Given the description of an element on the screen output the (x, y) to click on. 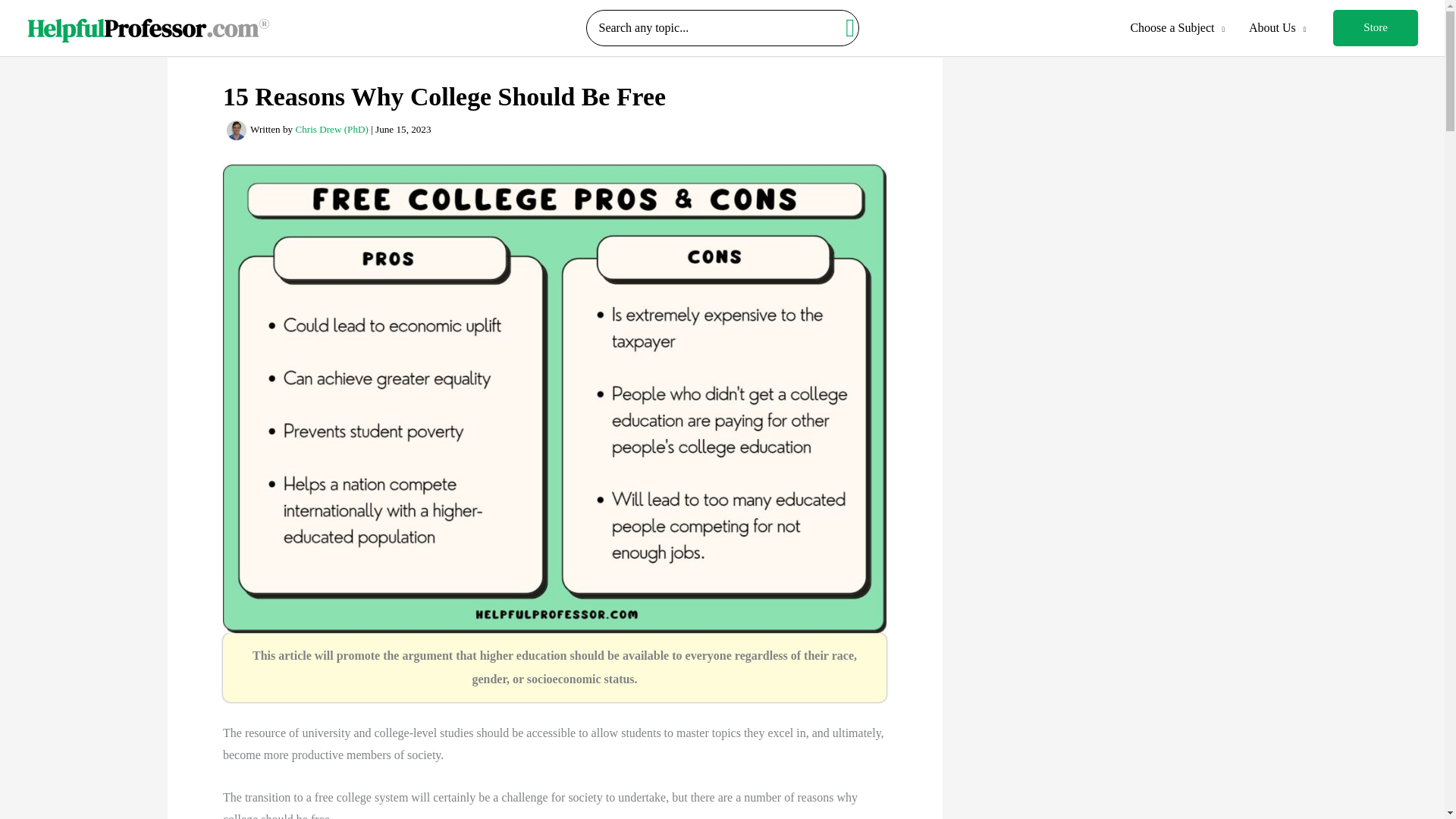
Choose a Subject (1177, 27)
Store (1375, 27)
About Us (1276, 27)
